Given the description of an element on the screen output the (x, y) to click on. 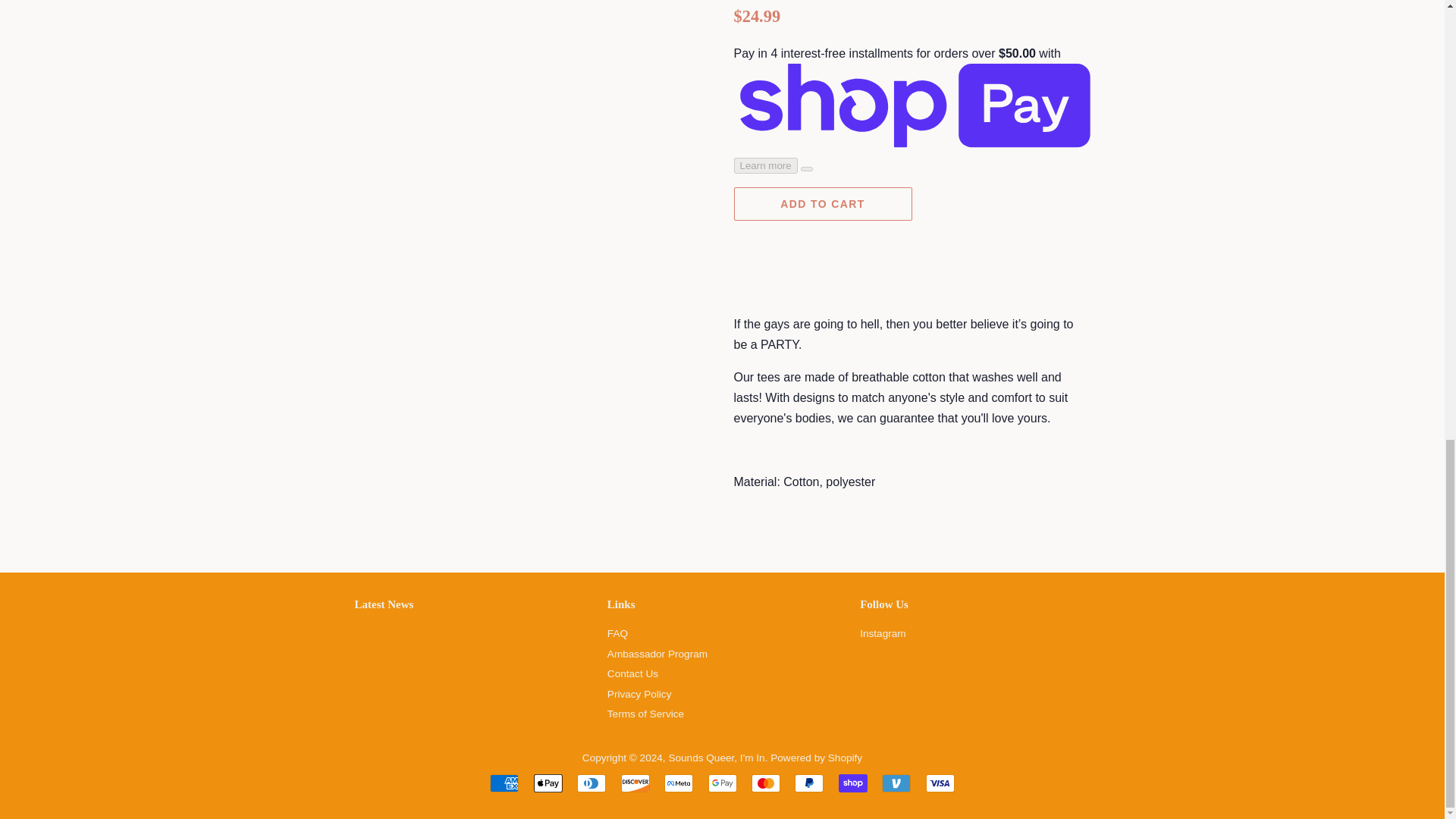
Apple Pay (548, 782)
American Express (503, 782)
Meta Pay (678, 782)
Sounds Queer, I'm In on Instagram (882, 633)
Diners Club (590, 782)
Venmo (896, 782)
Visa (940, 782)
PayPal (809, 782)
Shop Pay (852, 782)
Google Pay (721, 782)
